Given the description of an element on the screen output the (x, y) to click on. 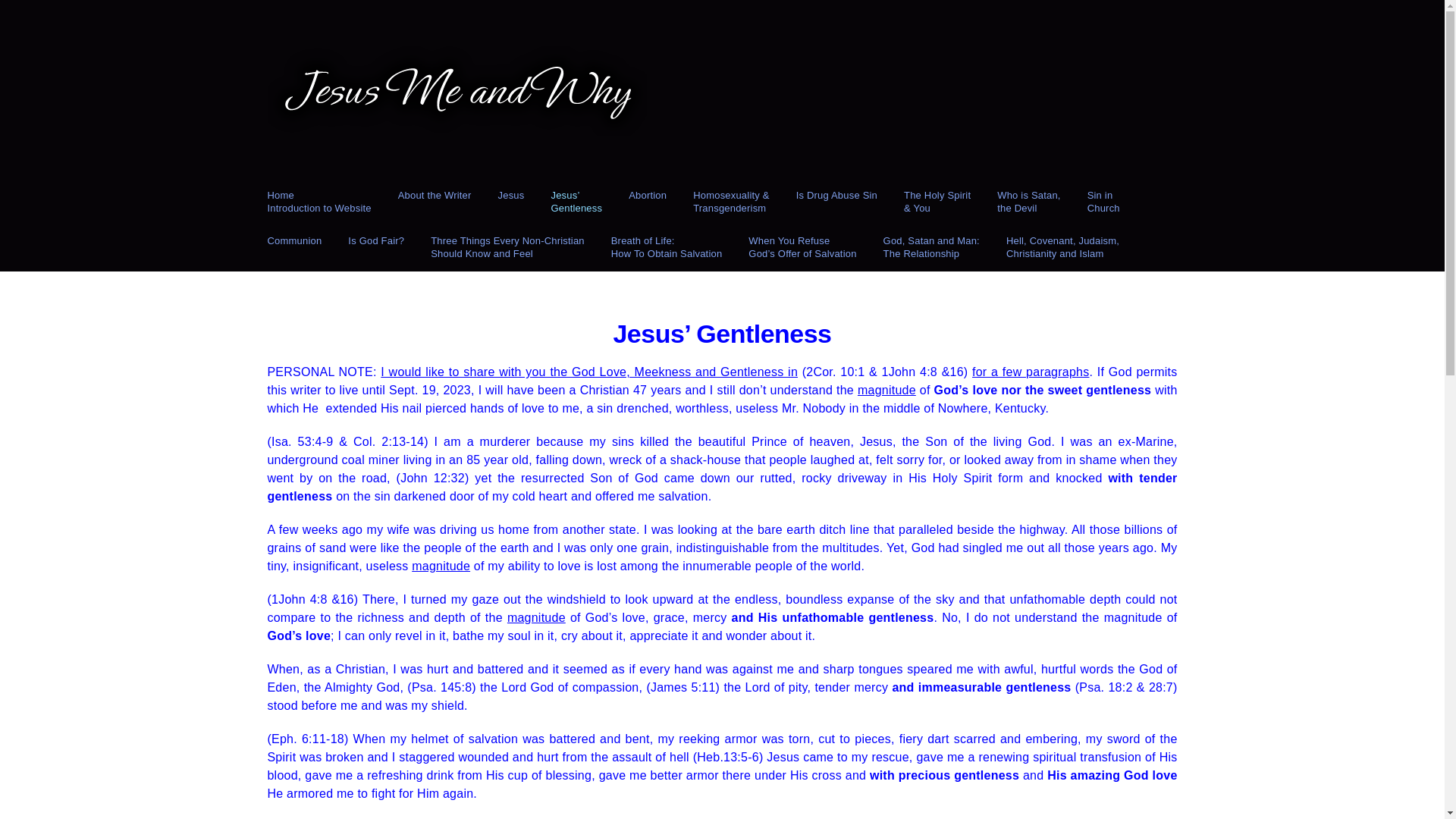
Communion (293, 248)
About the Writer (507, 248)
Is Drug Abuse Sin (1028, 202)
Is God Fair? (434, 202)
